Given the description of an element on the screen output the (x, y) to click on. 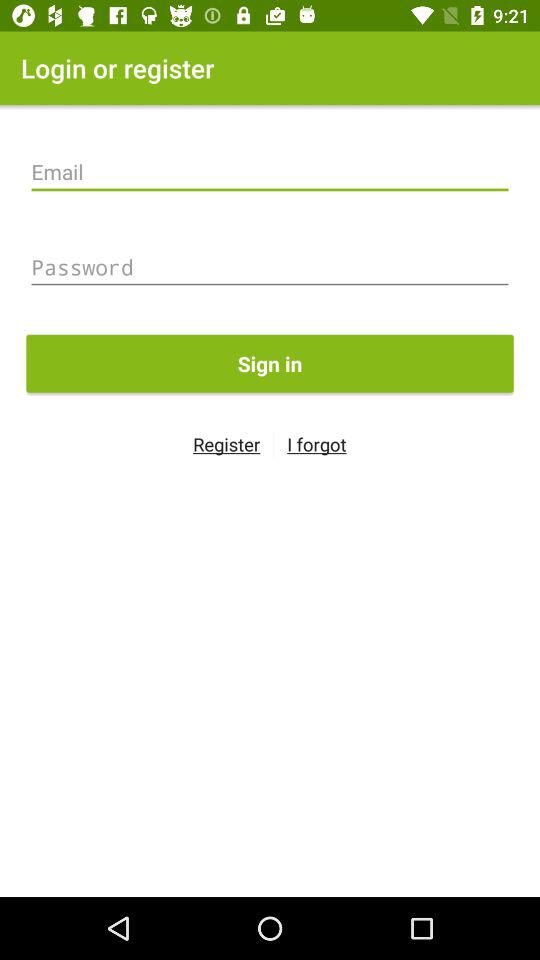
enter password (269, 267)
